Given the description of an element on the screen output the (x, y) to click on. 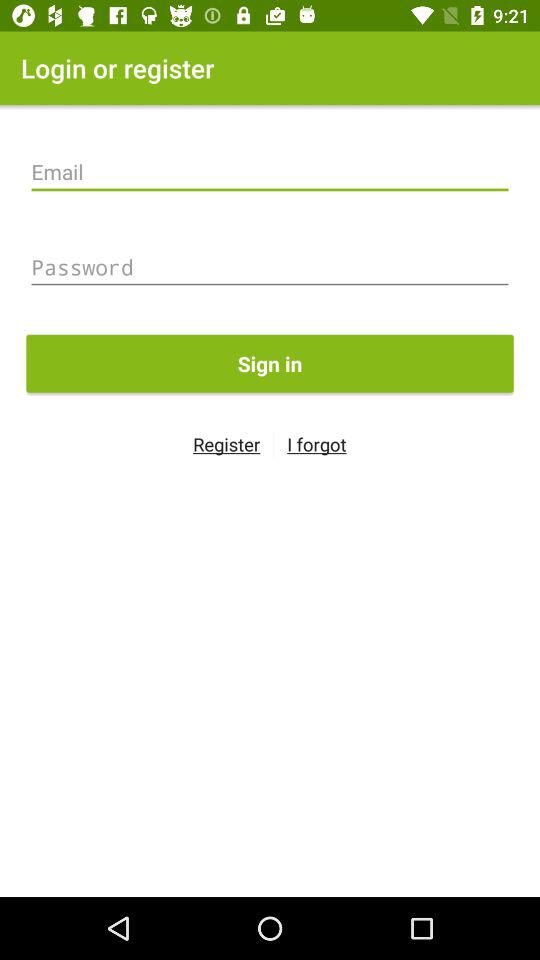
enter password (269, 267)
